Given the description of an element on the screen output the (x, y) to click on. 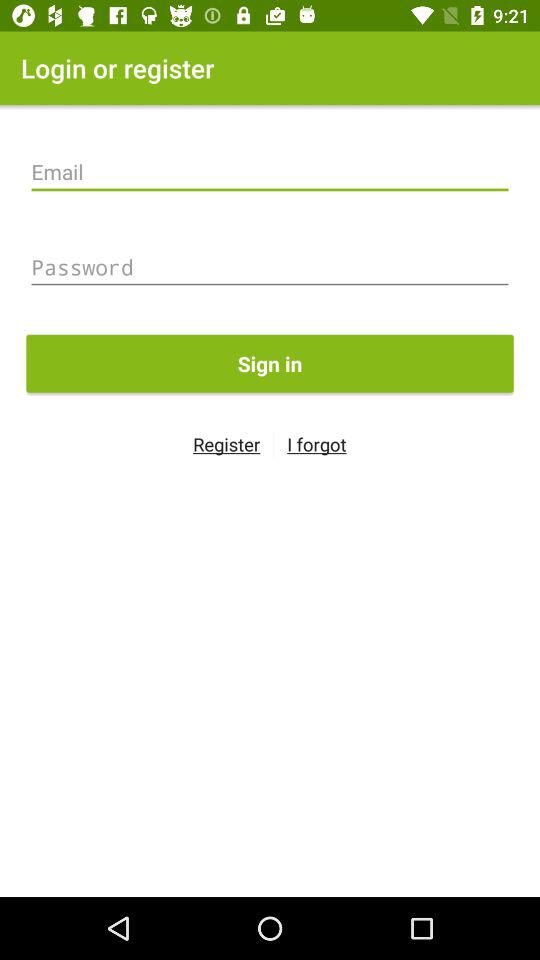
enter password (269, 267)
